Given the description of an element on the screen output the (x, y) to click on. 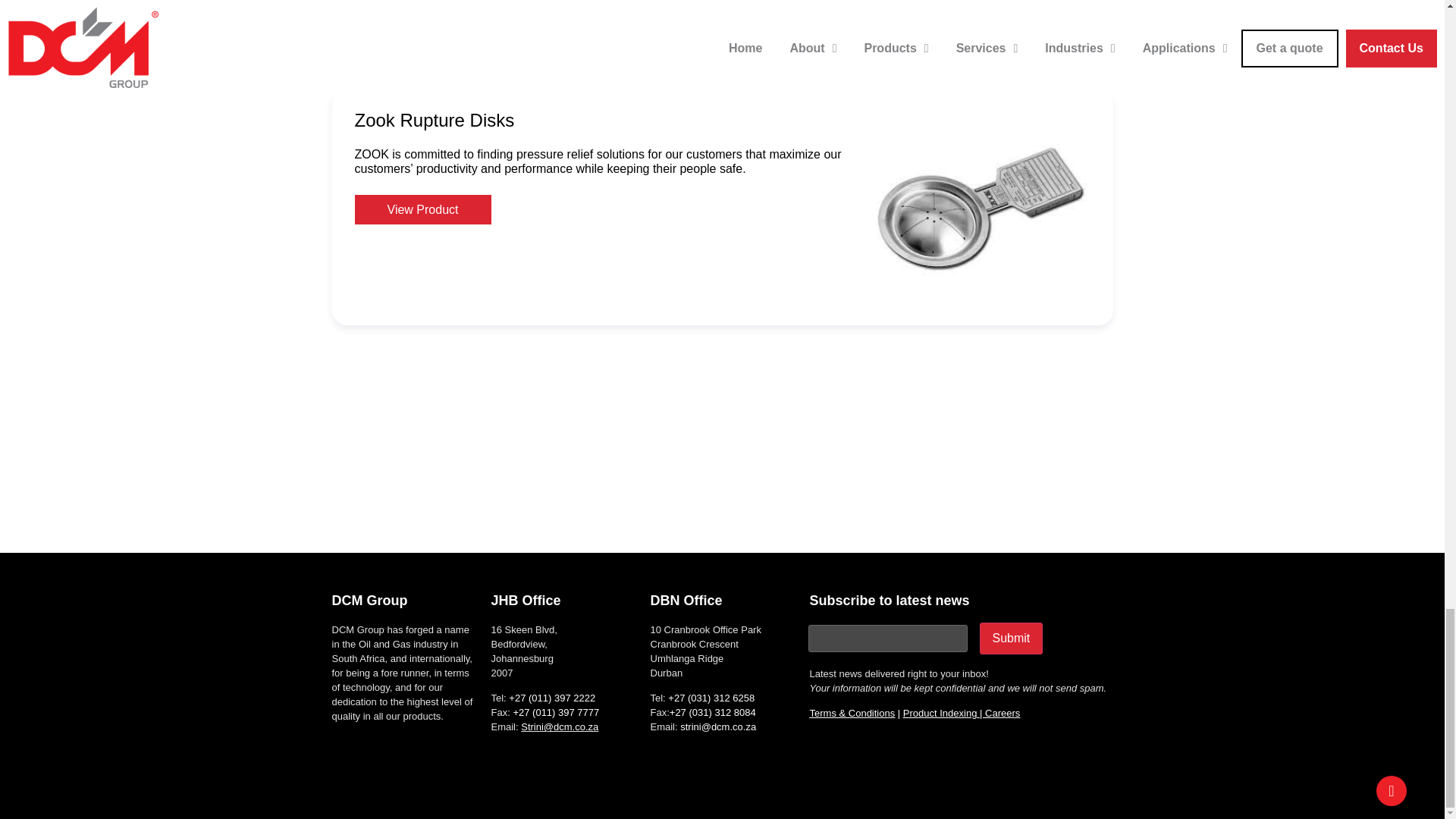
Submit (1011, 638)
